Given the description of an element on the screen output the (x, y) to click on. 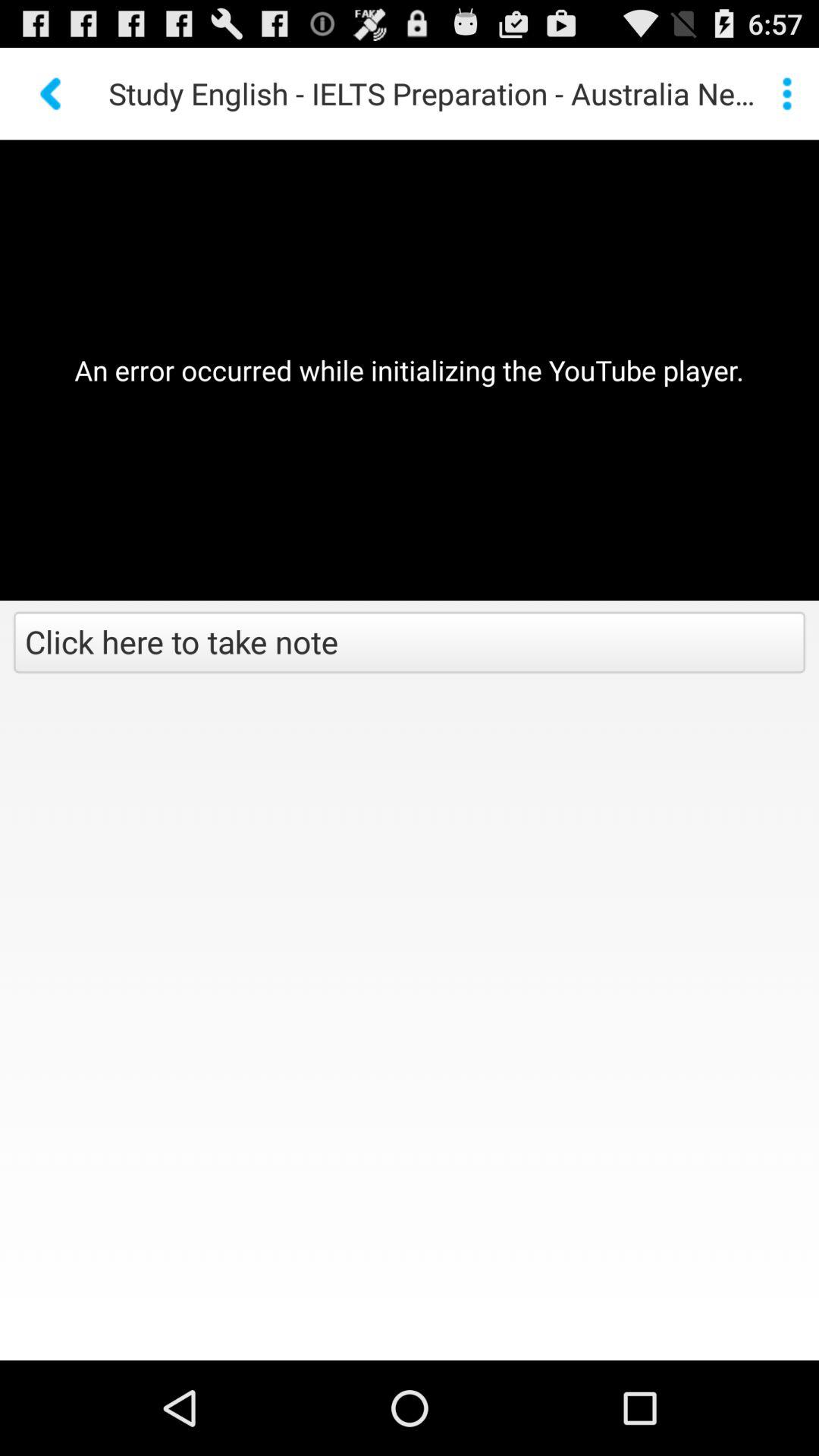
tap the item next to the study english ielts icon (52, 93)
